Given the description of an element on the screen output the (x, y) to click on. 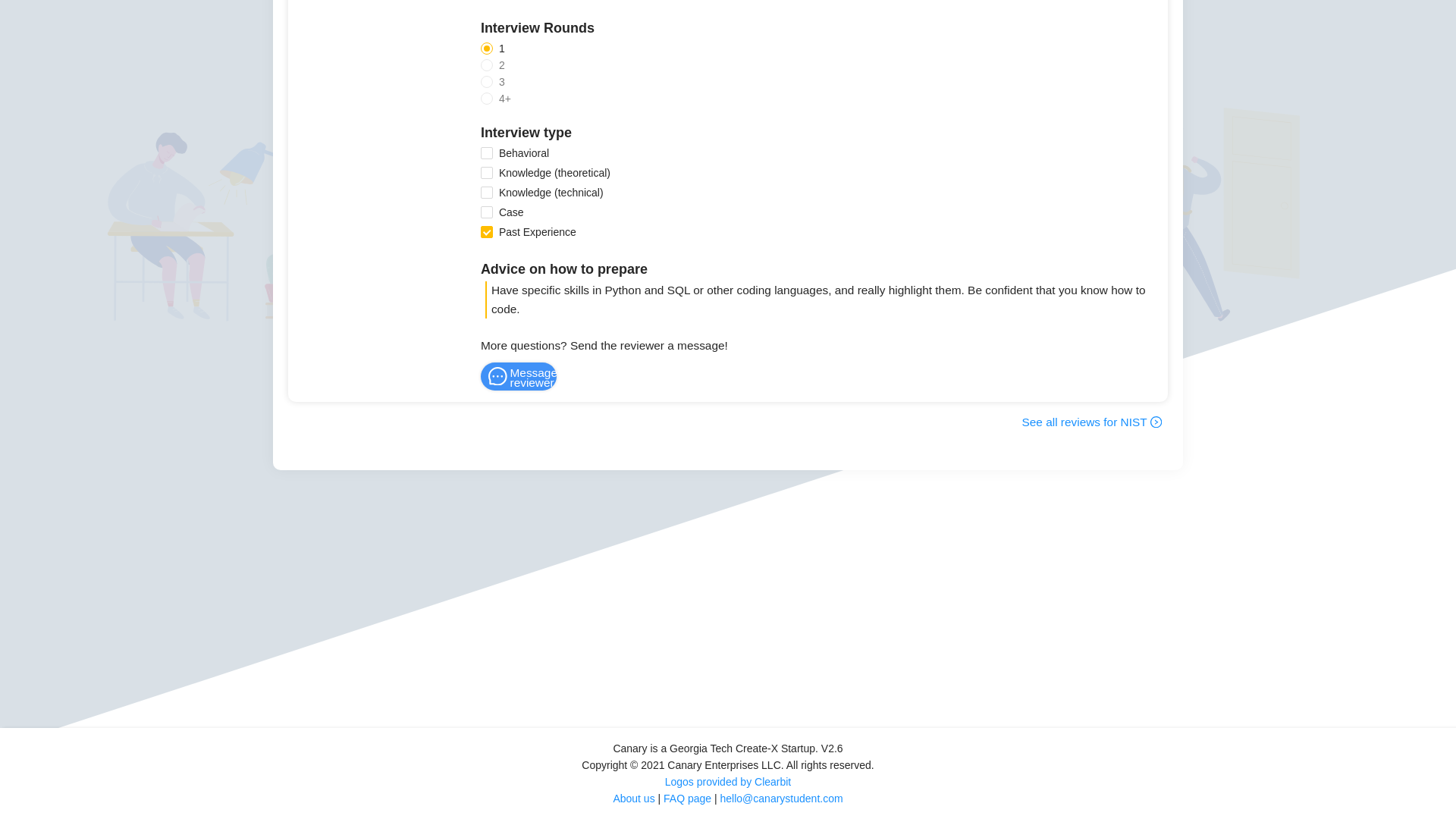
Logos provided by Clearbit (728, 781)
FAQ page (687, 798)
See all reviews for NIST (1091, 421)
About us (632, 798)
